Given the description of an element on the screen output the (x, y) to click on. 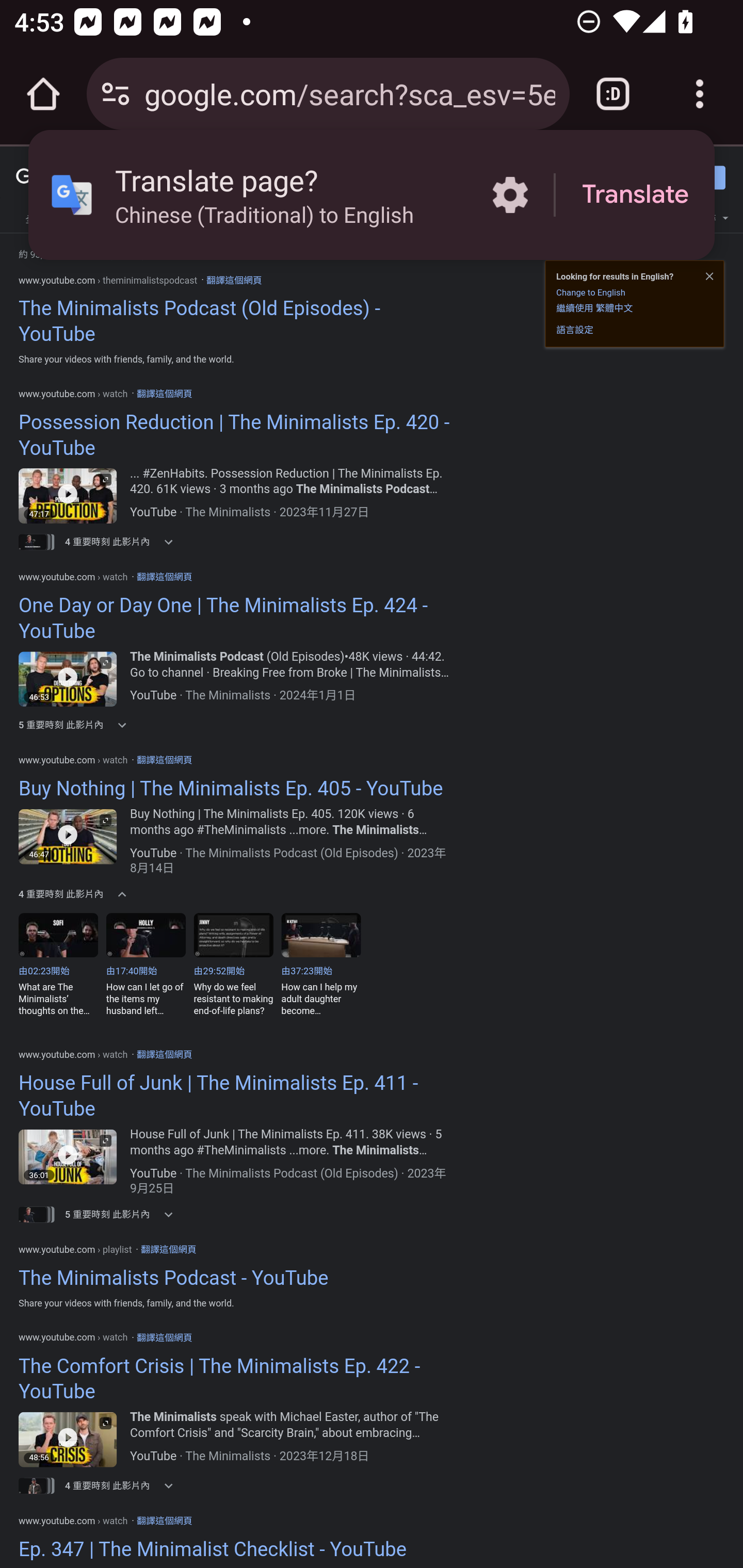
Open the home page (43, 93)
Connection is secure (115, 93)
Switch or close tabs (612, 93)
Customize and control Google Chrome (699, 93)
Translate (634, 195)
More options in the Translate page? (509, 195)
翻譯這個網頁 (233, 279)
Change to English (590, 291)
繼續使用 繁體中文 繼續使用  繁體中文 (594, 307)
語言設定 (574, 329)
翻譯這個網頁 (164, 394)
4 重要時刻  此影片內 (124, 541)
翻譯這個網頁 (164, 576)
5 重要時刻  此影片內 (124, 724)
翻譯這個網頁 (164, 759)
4 重要時刻  此影片內 (124, 894)
翻譯這個網頁 (164, 1054)
5 重要時刻  此影片內 (124, 1214)
翻譯這個網頁 (168, 1248)
翻譯這個網頁 (164, 1336)
4 重要時刻  此影片內 (124, 1485)
翻譯這個網頁 (164, 1520)
